Given the description of an element on the screen output the (x, y) to click on. 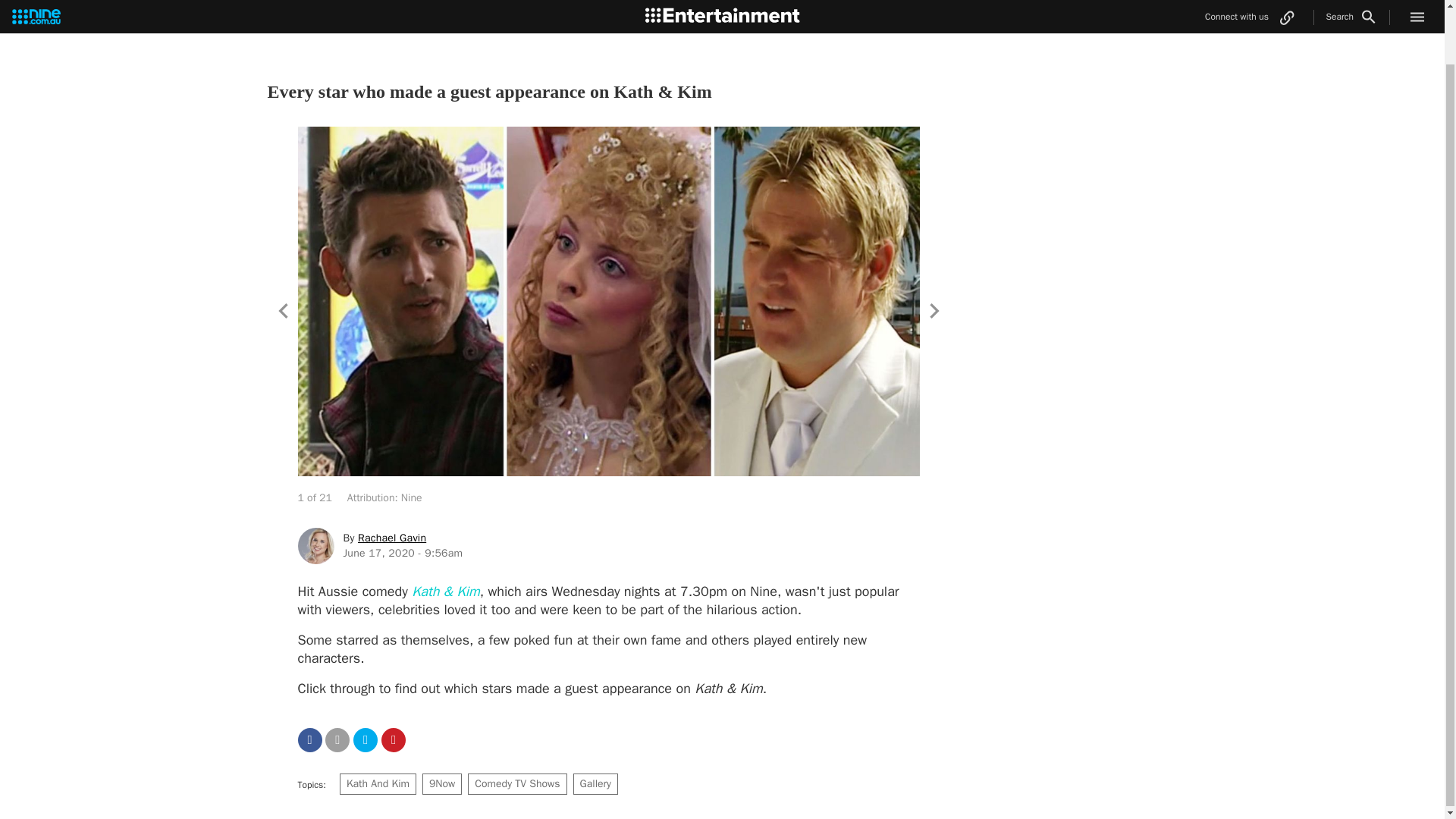
Comedy TV Shows (516, 783)
Kath And Kim (377, 783)
9Now (441, 783)
Rachael Gavin (392, 537)
Gallery (595, 783)
